Given the description of an element on the screen output the (x, y) to click on. 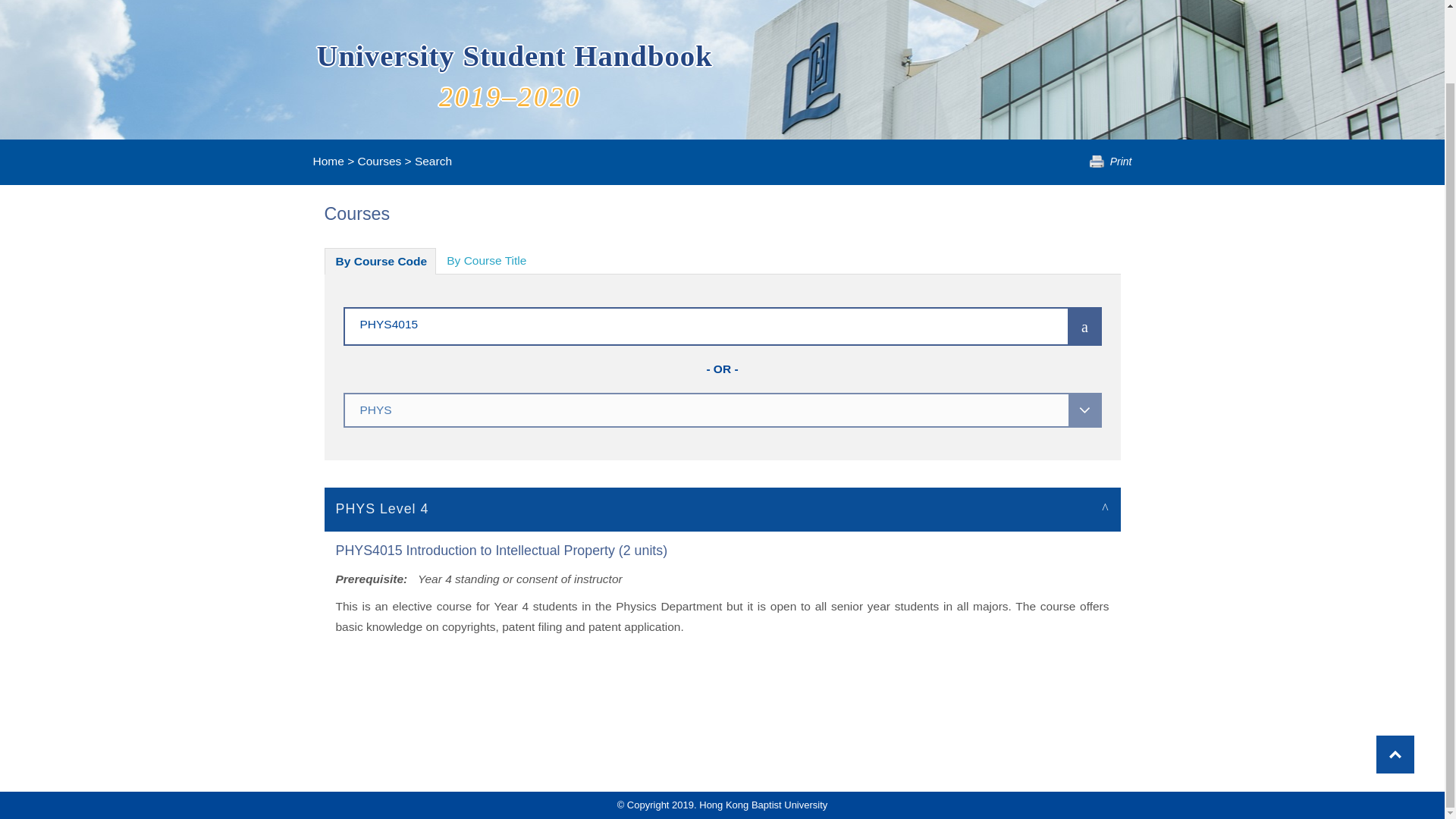
By Course Title (486, 260)
Print (1110, 161)
PHYS4015 (683, 322)
PHYS Level 4 (722, 508)
Home (328, 160)
Scroll To Top (1394, 672)
Courses (379, 160)
Scroll To Top (1394, 672)
PHYS4015 (683, 322)
By Course Code (381, 261)
Scroll To Top (1394, 672)
